Given the description of an element on the screen output the (x, y) to click on. 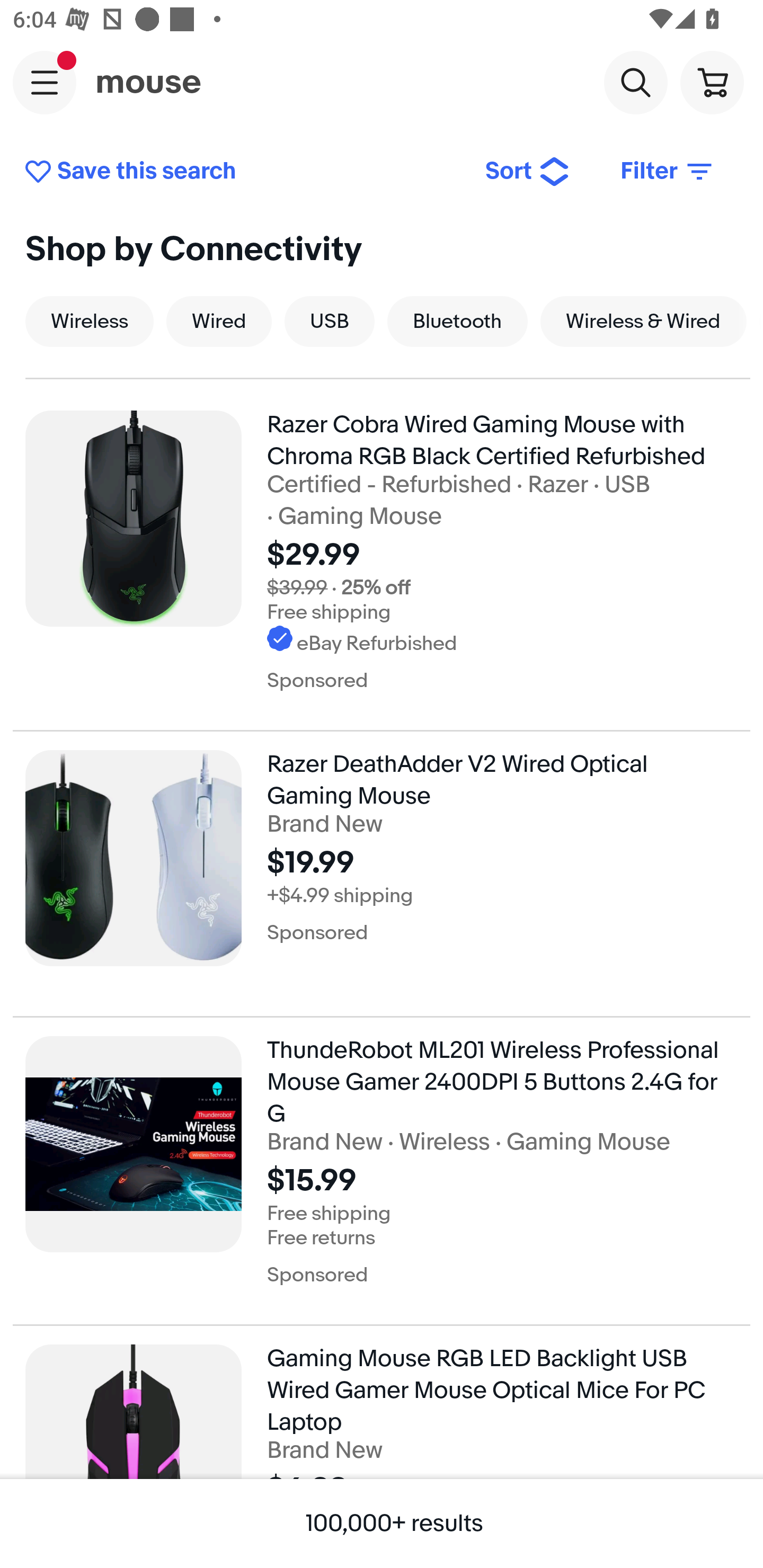
Main navigation, notification is pending, open (44, 82)
Search (635, 81)
Cart button shopping cart (711, 81)
Save this search (241, 171)
Sort (527, 171)
Filter (667, 171)
Wireless Wireless, Connectivity (89, 321)
Wired Wired, Connectivity (218, 321)
USB USB, Connectivity (329, 321)
Bluetooth Bluetooth, Connectivity (457, 321)
Wireless & Wired Wireless & Wired, Connectivity (643, 321)
